Given the description of an element on the screen output the (x, y) to click on. 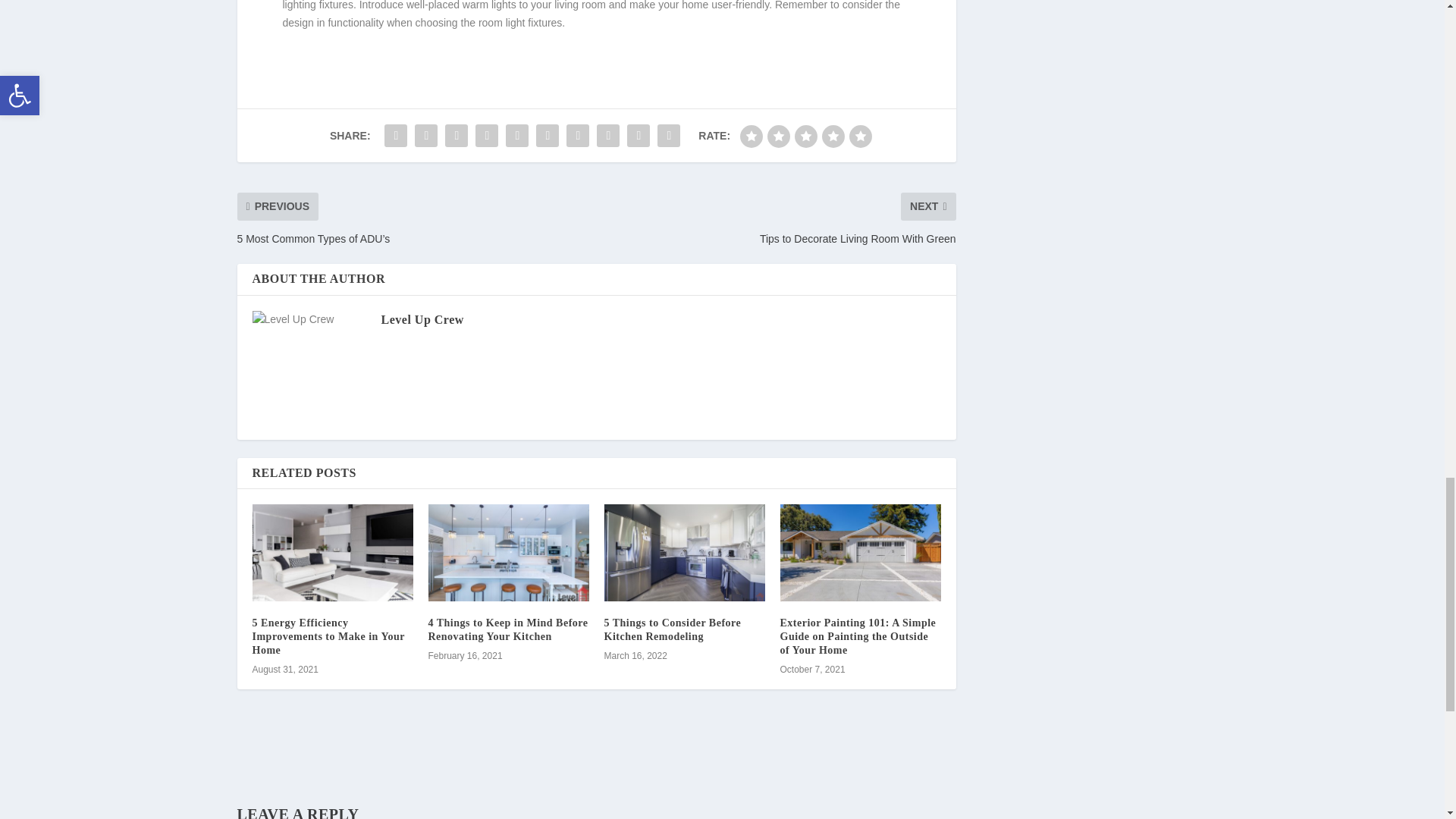
Share "6 Major Home Renovations To Add Value" via LinkedIn (547, 135)
Share "6 Major Home Renovations To Add Value" via Twitter (425, 135)
Share "6 Major Home Renovations To Add Value" via Buffer (577, 135)
Share "6 Major Home Renovations To Add Value" via Pinterest (517, 135)
Share "6 Major Home Renovations To Add Value" via Tumblr (486, 135)
Share "6 Major Home Renovations To Add Value" via Facebook (395, 135)
